Given the description of an element on the screen output the (x, y) to click on. 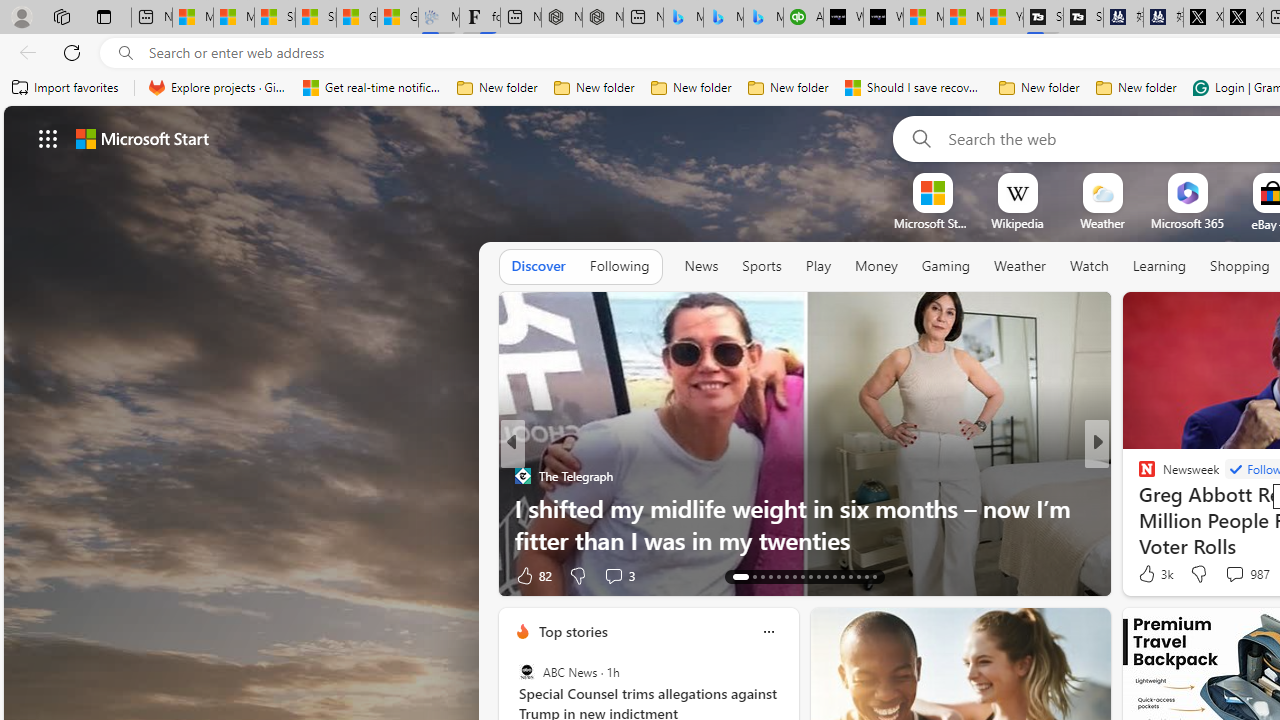
12 Like (1149, 574)
YourTango: Revolutionizing Relationships (1138, 475)
AutomationID: tab-17 (778, 576)
View comments 85 Comment (1229, 575)
The Independent (1138, 475)
View comments 22 Comment (1234, 575)
PsychLove (1138, 475)
